Given the description of an element on the screen output the (x, y) to click on. 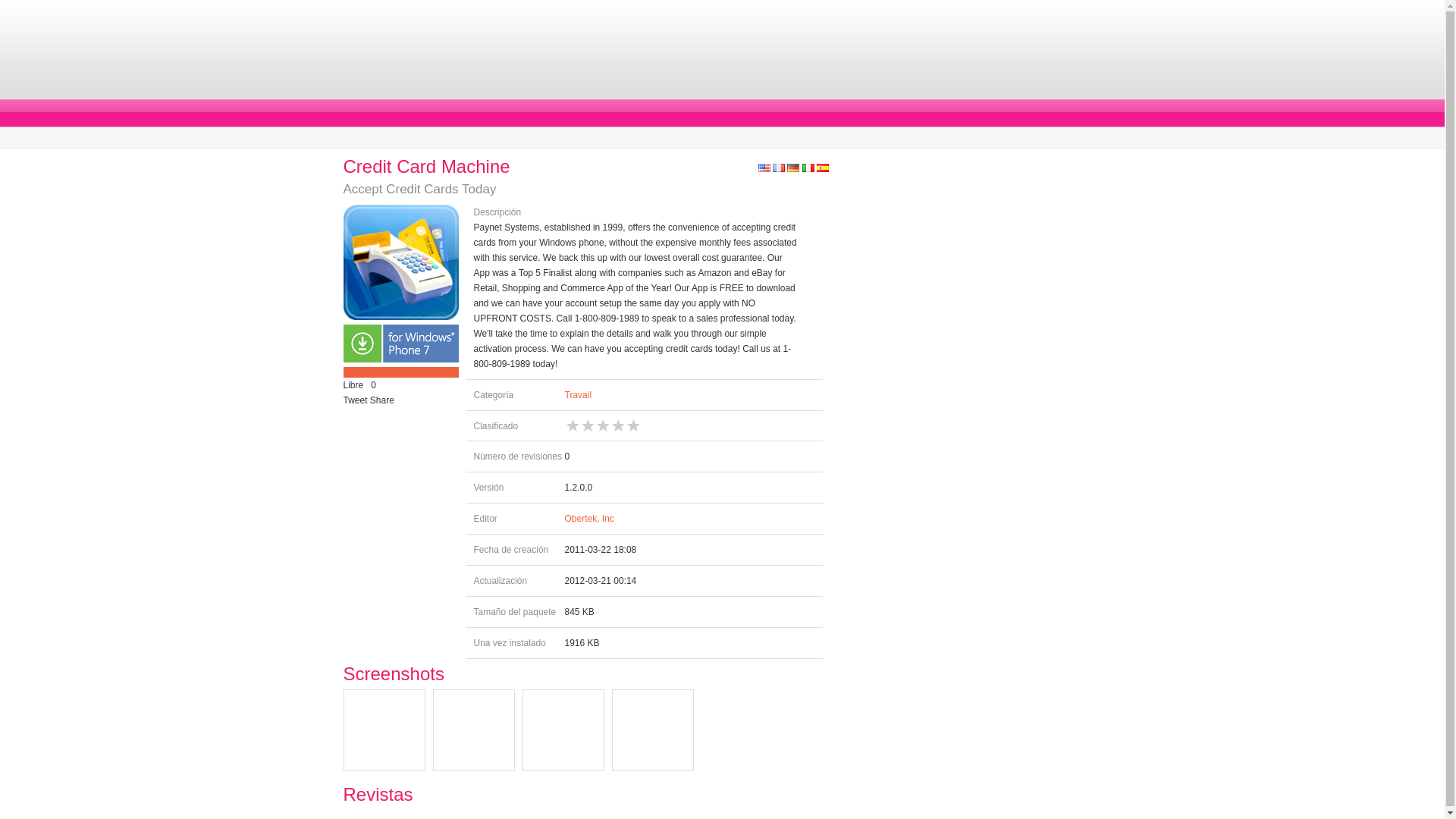
Credit Card Machine Screenshots (393, 673)
Credit Card Machine revistas (377, 793)
Credit Card Machine (425, 166)
Obertek, Inc (588, 518)
Travail (577, 394)
Screenshots (393, 673)
Revistas (377, 793)
Credit Card Machine's details (425, 166)
